Given the description of an element on the screen output the (x, y) to click on. 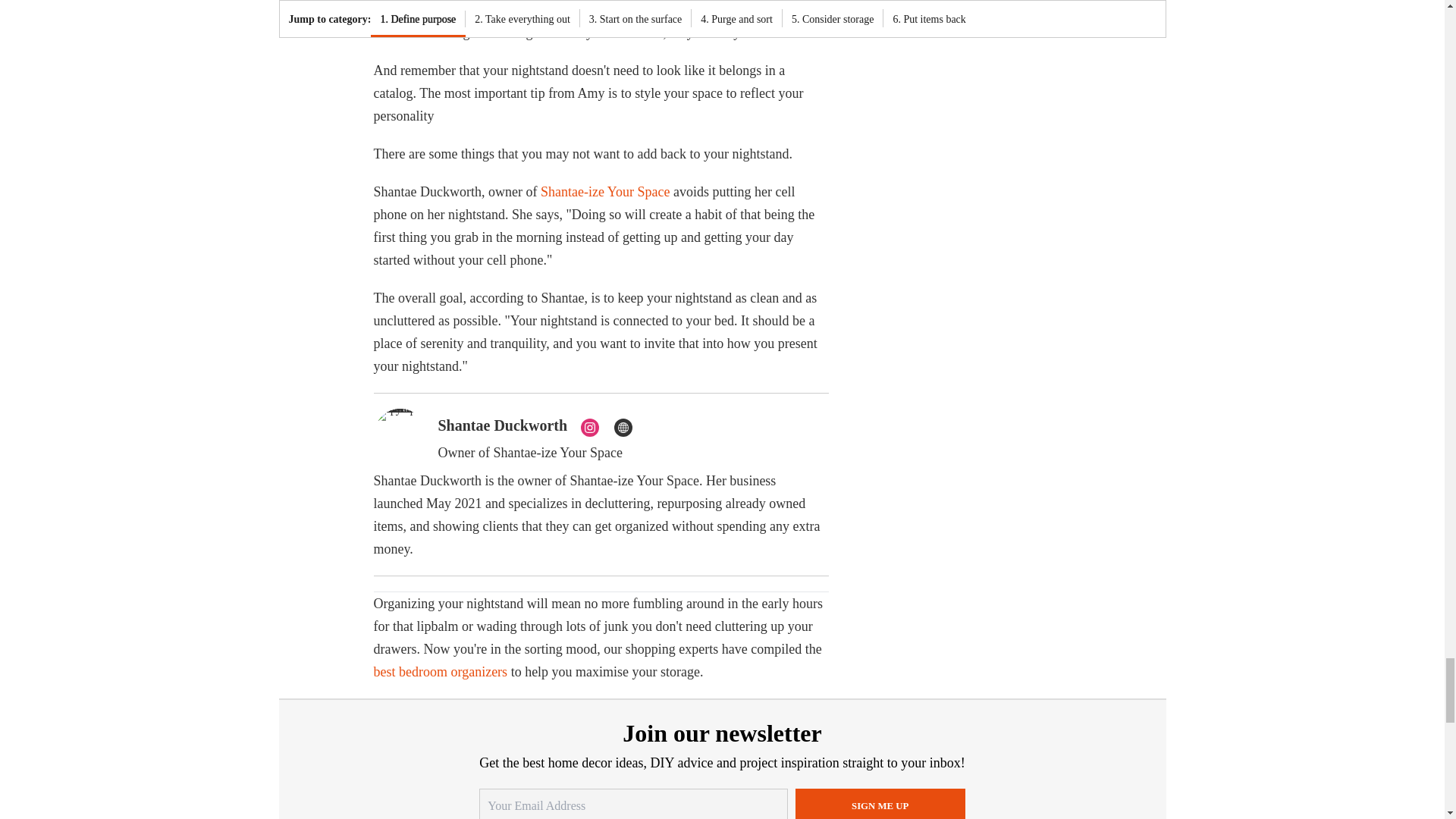
Sign me up (879, 803)
